Given the description of an element on the screen output the (x, y) to click on. 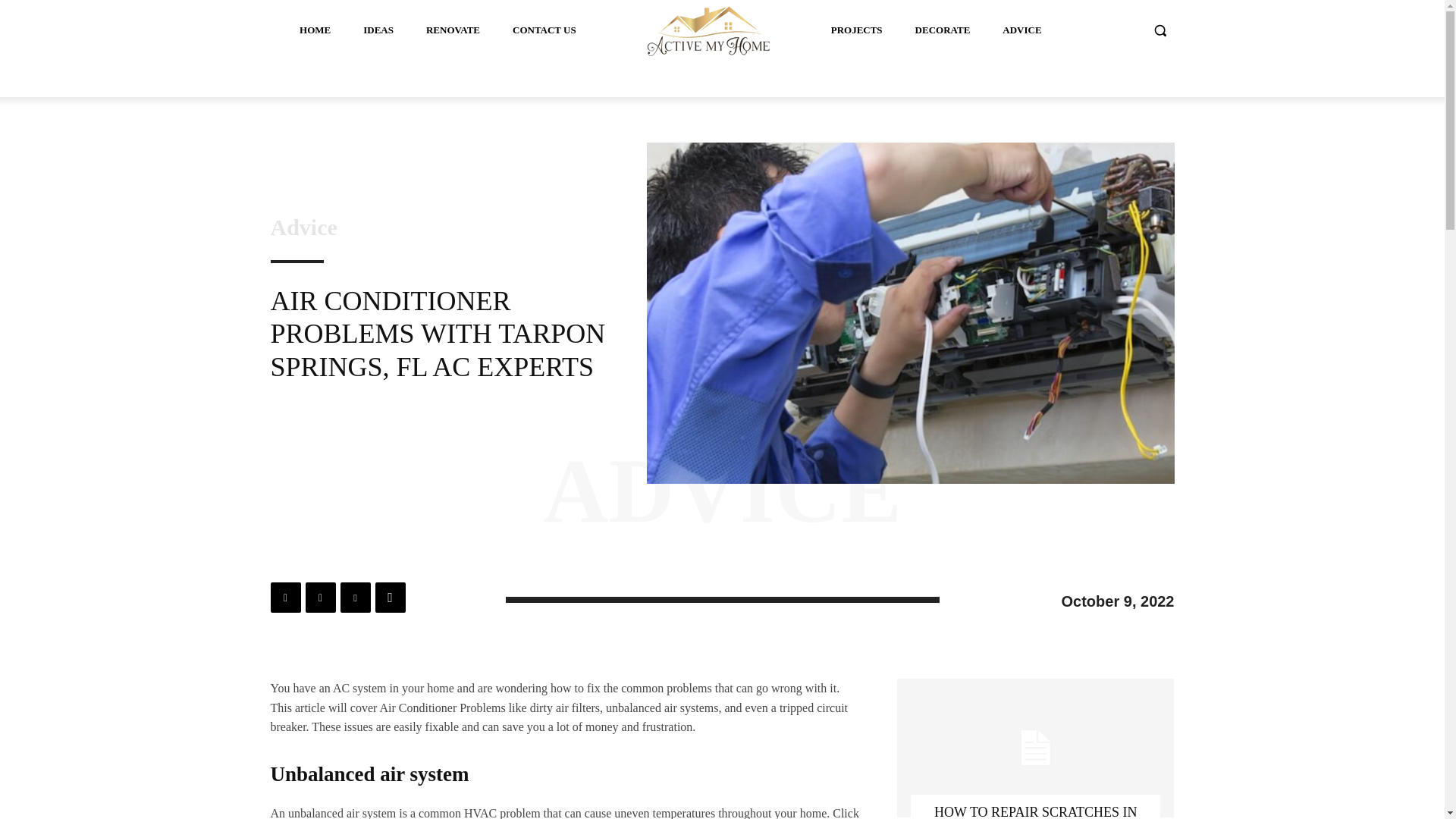
RENOVATE (452, 30)
